Given the description of an element on the screen output the (x, y) to click on. 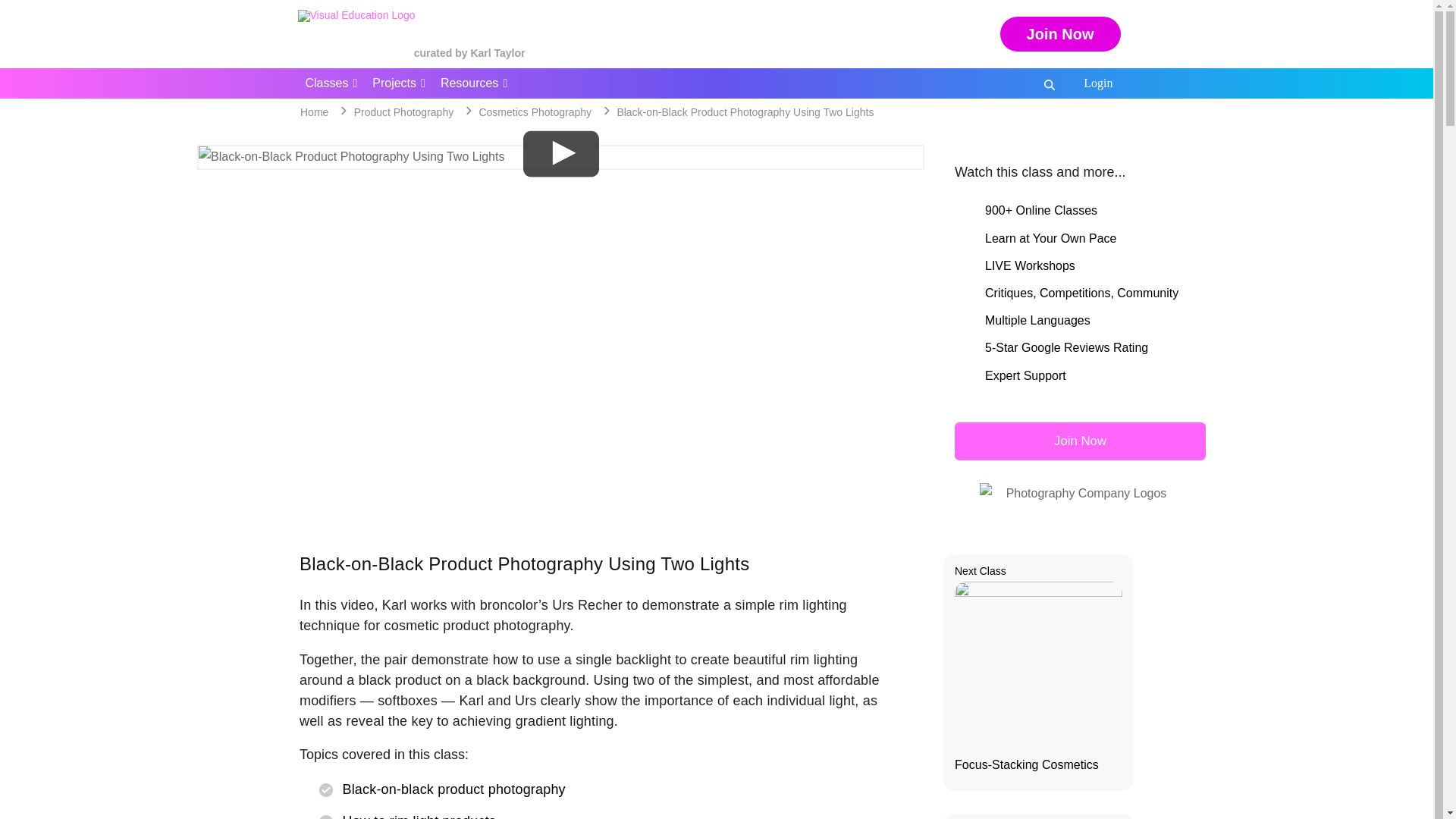
Join Now (1060, 33)
You Are Here (744, 112)
Classes (331, 82)
